Given the description of an element on the screen output the (x, y) to click on. 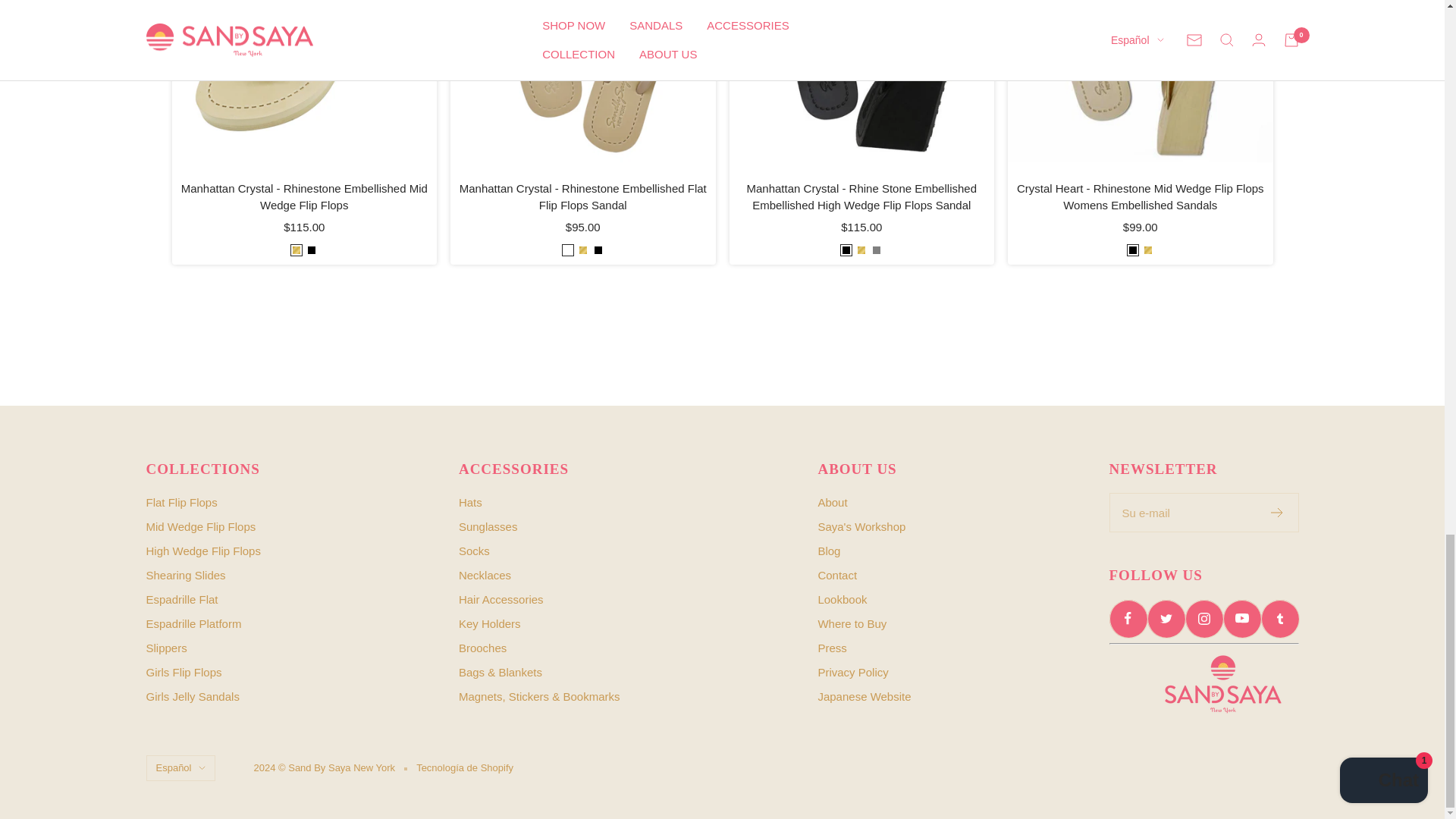
Registrarse (1277, 511)
